Given the description of an element on the screen output the (x, y) to click on. 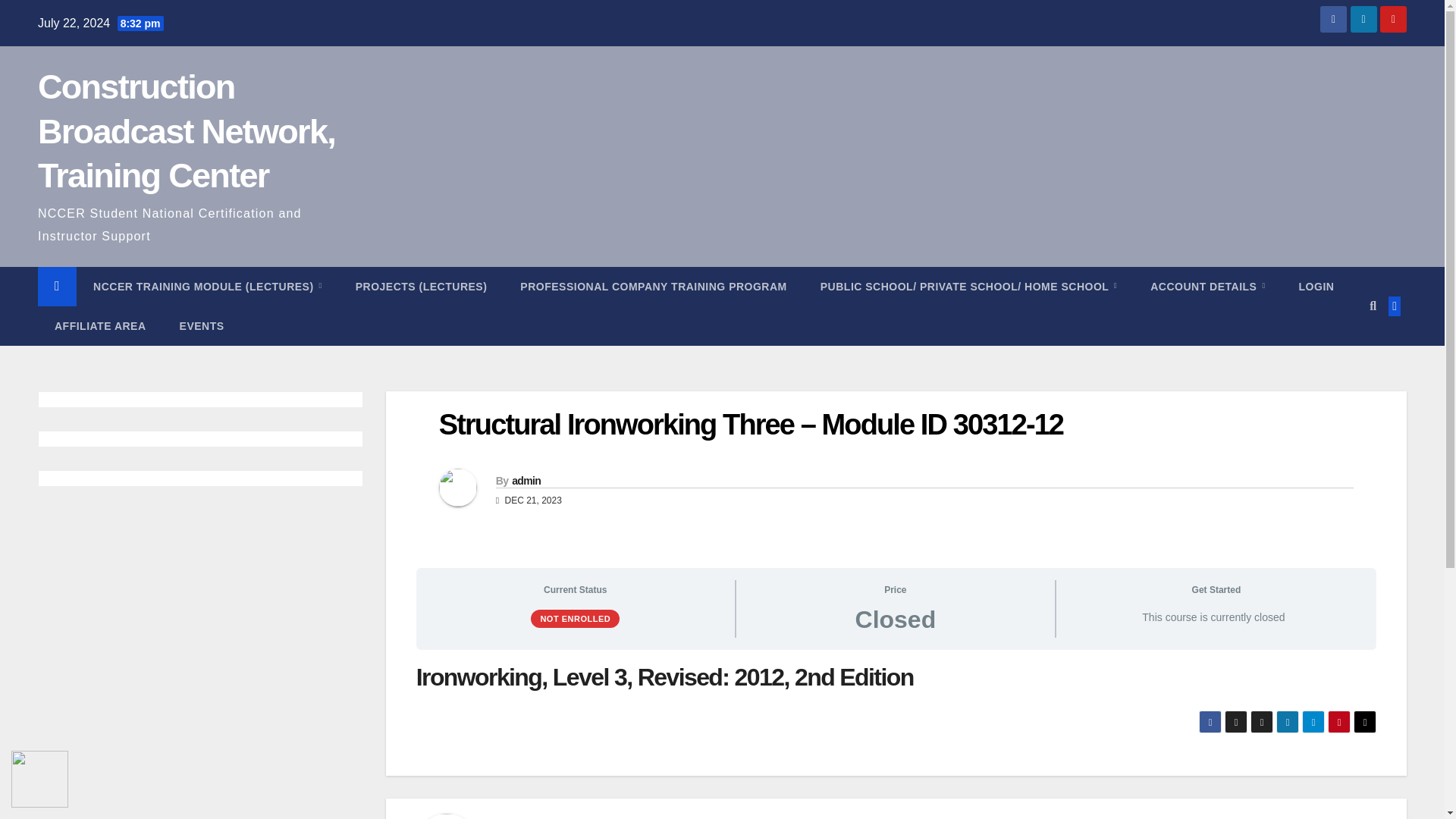
PROFESSIONAL COMPANY TRAINING PROGRAM (653, 286)
Construction Broadcast Network, Training Center (185, 130)
